Given the description of an element on the screen output the (x, y) to click on. 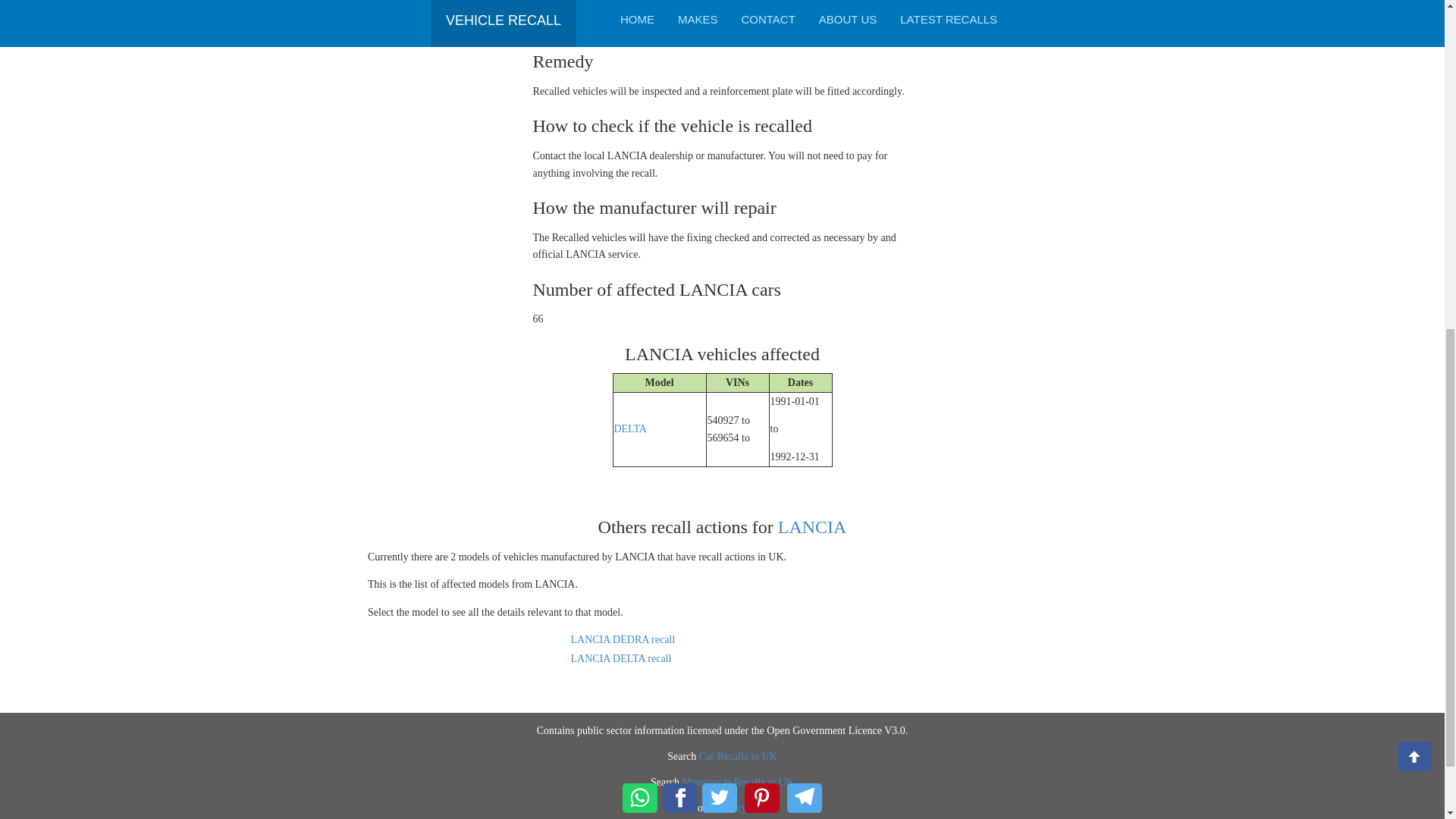
LANCIA Recalls in UK (812, 526)
Car Recalls in UK (737, 756)
LANCIA (812, 526)
Share on Whatsapp (640, 202)
LANCIA DELTA Recalls in UK (620, 658)
Share on Twitter (718, 202)
Share on Telegram (804, 202)
Motorcycle Recalls in UK (737, 781)
Share on Pinterest (761, 202)
LANCIA DEDRA recall (622, 639)
LANCIA DEDRA Recalls in UK (622, 639)
Privacy Policy (745, 808)
Share on Facebook (679, 202)
LANCIA DELTA Recalls in UK (630, 428)
LANCIA DELTA recall (620, 658)
